Given the description of an element on the screen output the (x, y) to click on. 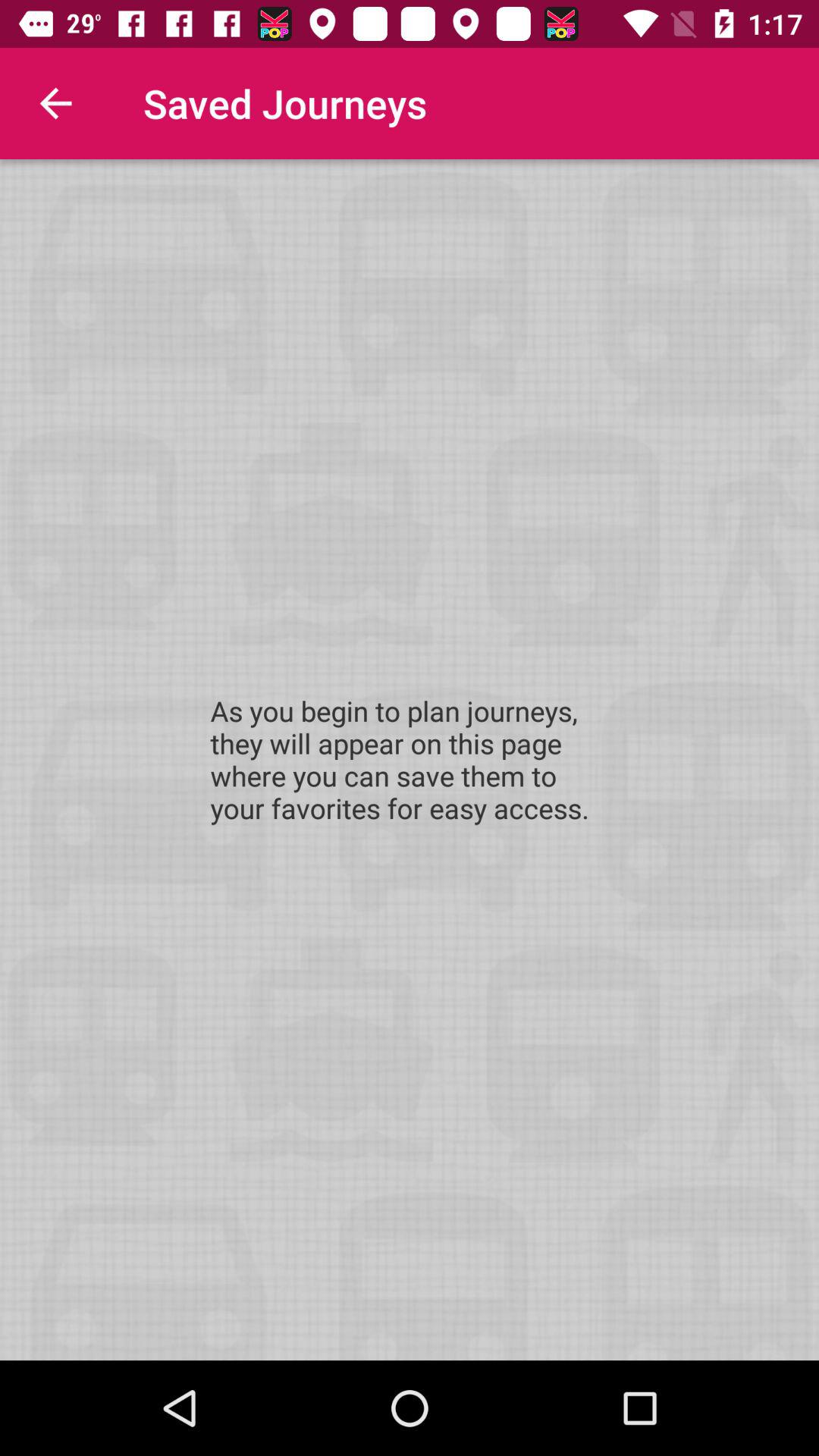
open icon at the top left corner (55, 103)
